Given the description of an element on the screen output the (x, y) to click on. 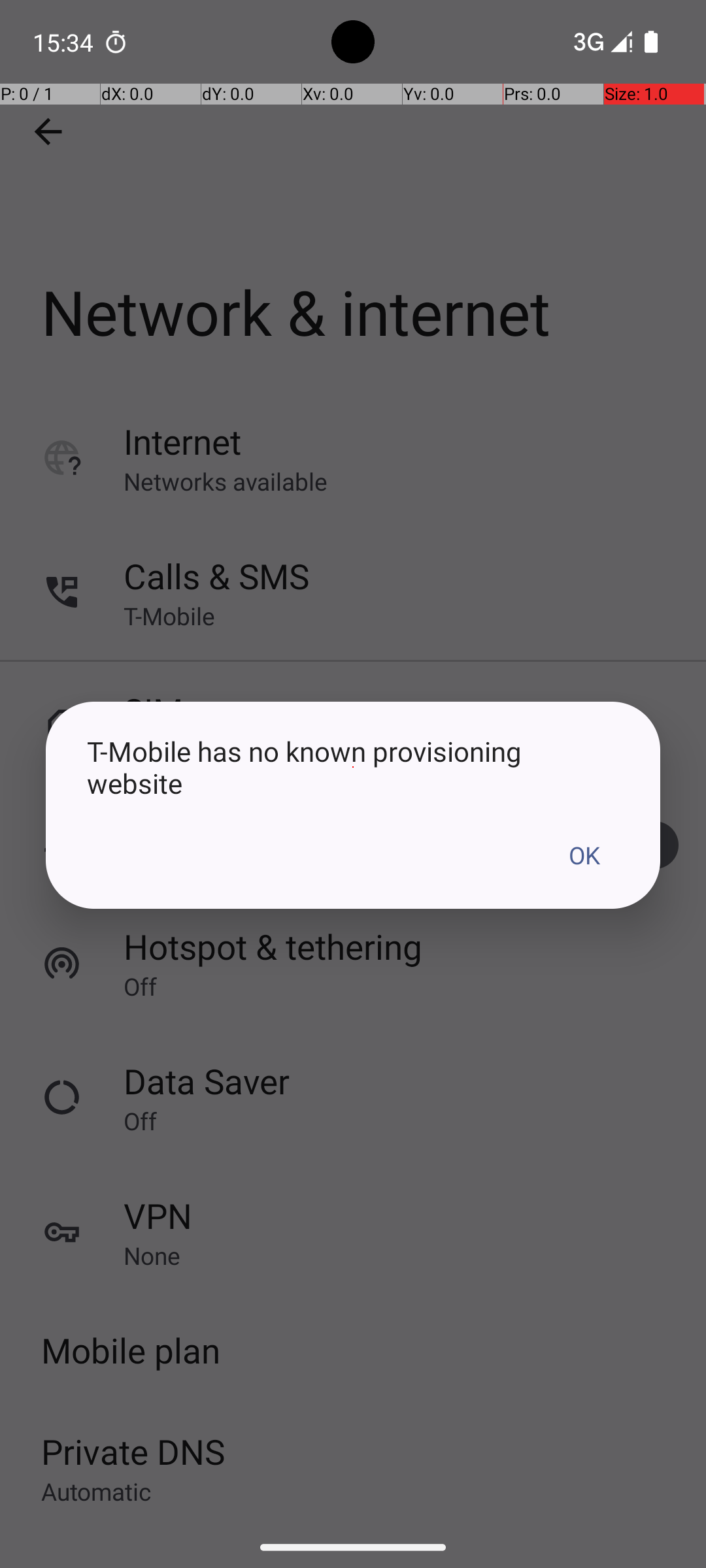
T-Mobile has no known provisioning website Element type: android.widget.TextView (352, 766)
